Given the description of an element on the screen output the (x, y) to click on. 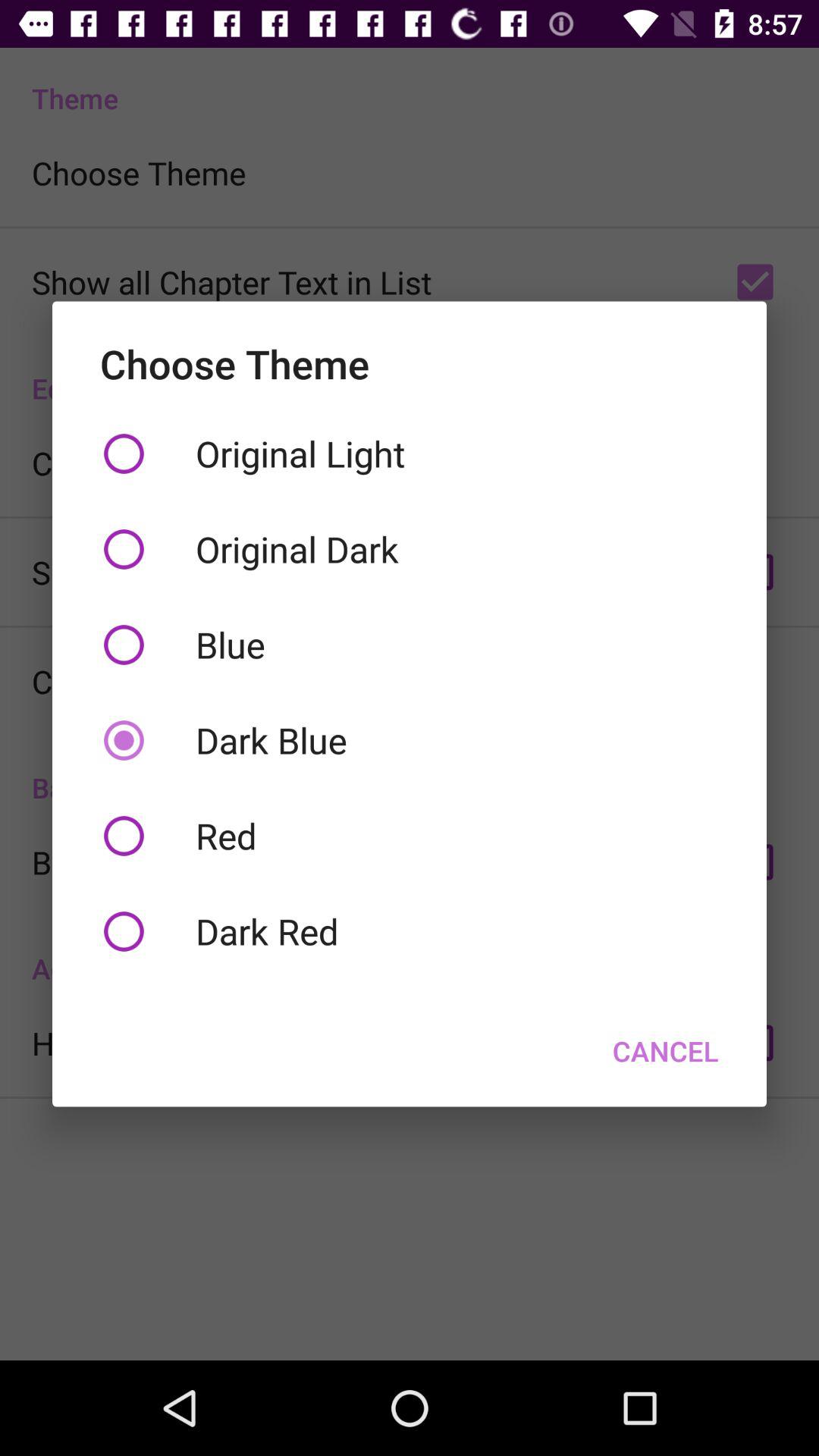
open the button at the bottom right corner (665, 1050)
